Given the description of an element on the screen output the (x, y) to click on. 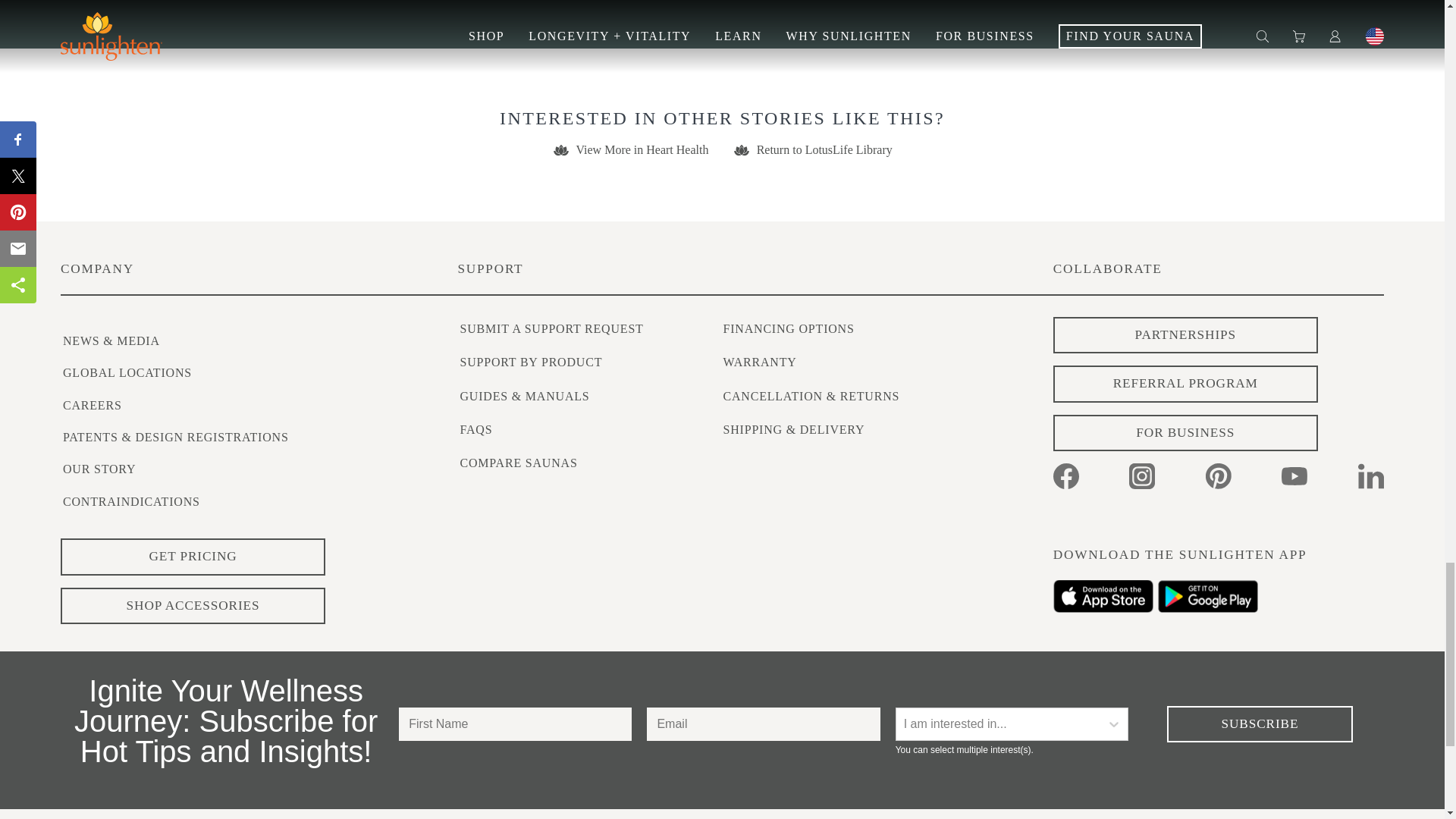
FINANCING OPTIONS (788, 328)
PARTNERSHIPS (1184, 334)
CONTRAINDICATIONS (131, 501)
Instagram (1141, 475)
SUBMIT A SUPPORT REQUEST (551, 328)
Pinterest (1218, 475)
COMPARE SAUNAS (518, 462)
WARRANTY (759, 361)
SUBSCRIBE (1260, 723)
OUR STORY (98, 468)
FAQS (476, 429)
GLOBAL LOCATIONS (127, 372)
Facebook (1065, 475)
REFERRAL PROGRAM (1184, 383)
SHOP ACCESSORIES (192, 606)
